Given the description of an element on the screen output the (x, y) to click on. 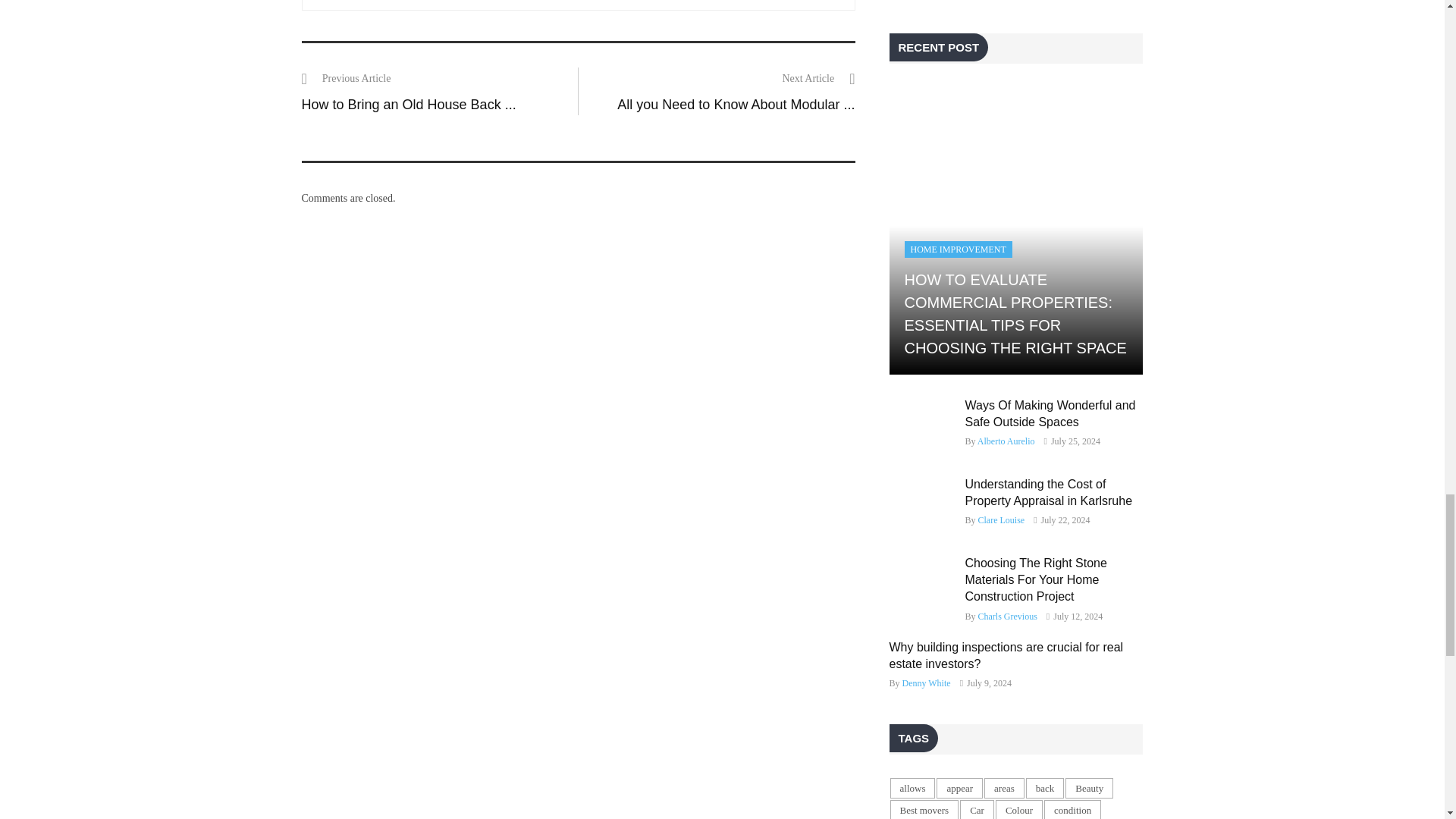
How to Bring an Old House Back ... (408, 104)
All you Need to Know About Modular ... (735, 104)
